Given the description of an element on the screen output the (x, y) to click on. 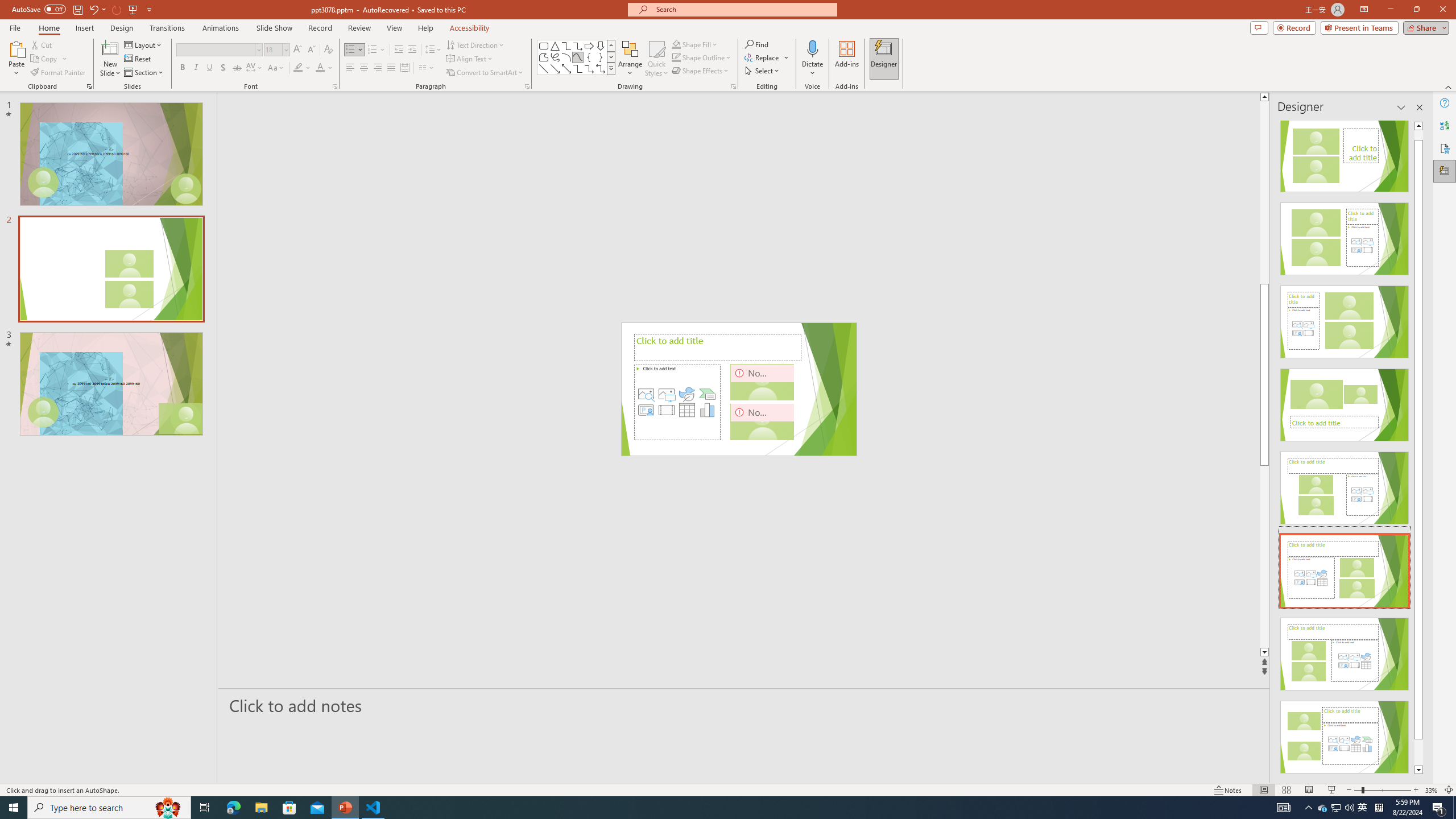
Class: NetUIScrollBar (1418, 447)
